Given the description of an element on the screen output the (x, y) to click on. 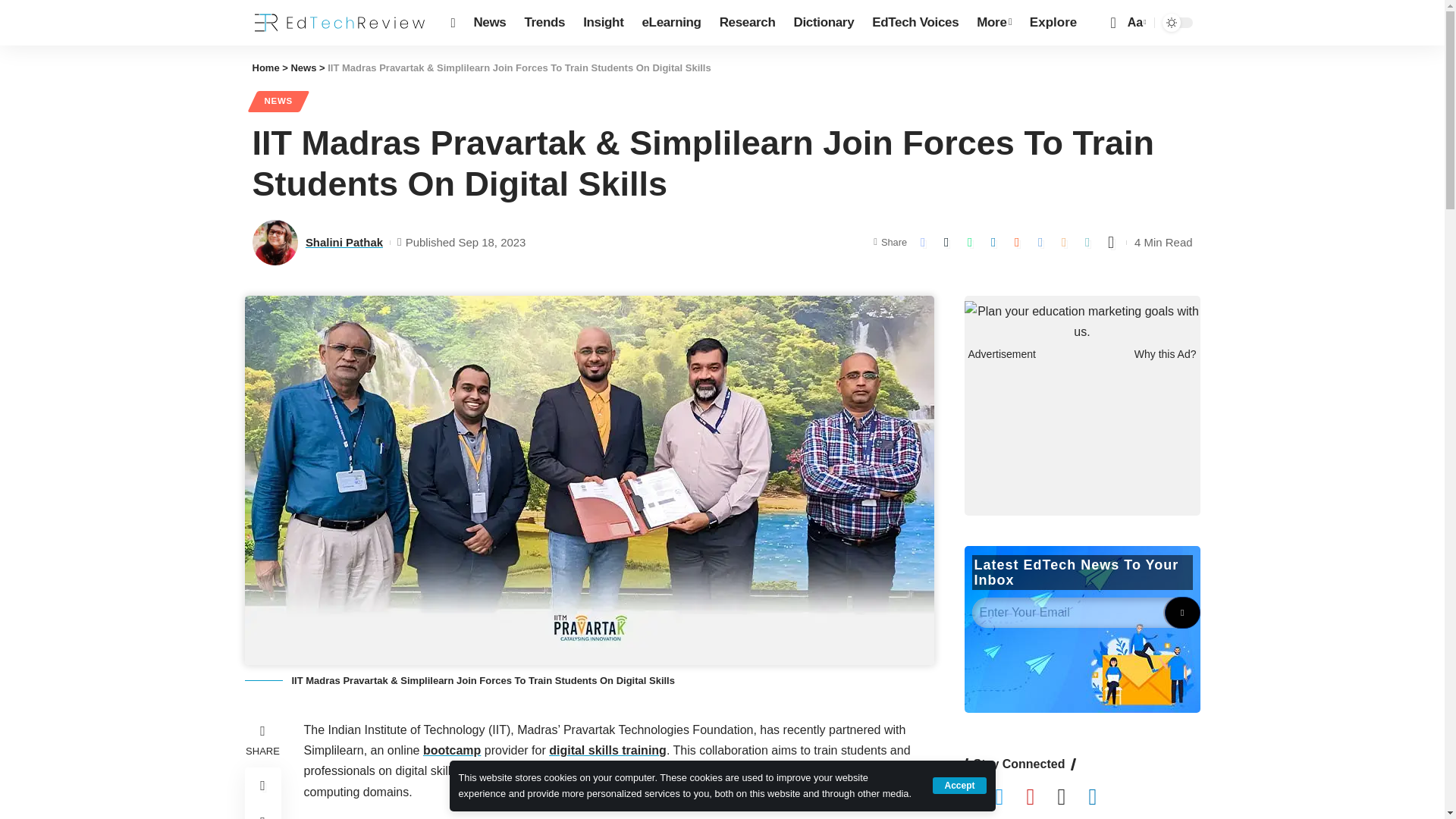
EdTechReview (338, 22)
eLearning (670, 22)
Follow EdTechReview on Facebook (979, 797)
Explore (1053, 22)
Follow EdTechReview on Instagram (1072, 797)
Dictionary (823, 22)
Research (747, 22)
More (994, 22)
Insight (602, 22)
News (489, 22)
